Given the description of an element on the screen output the (x, y) to click on. 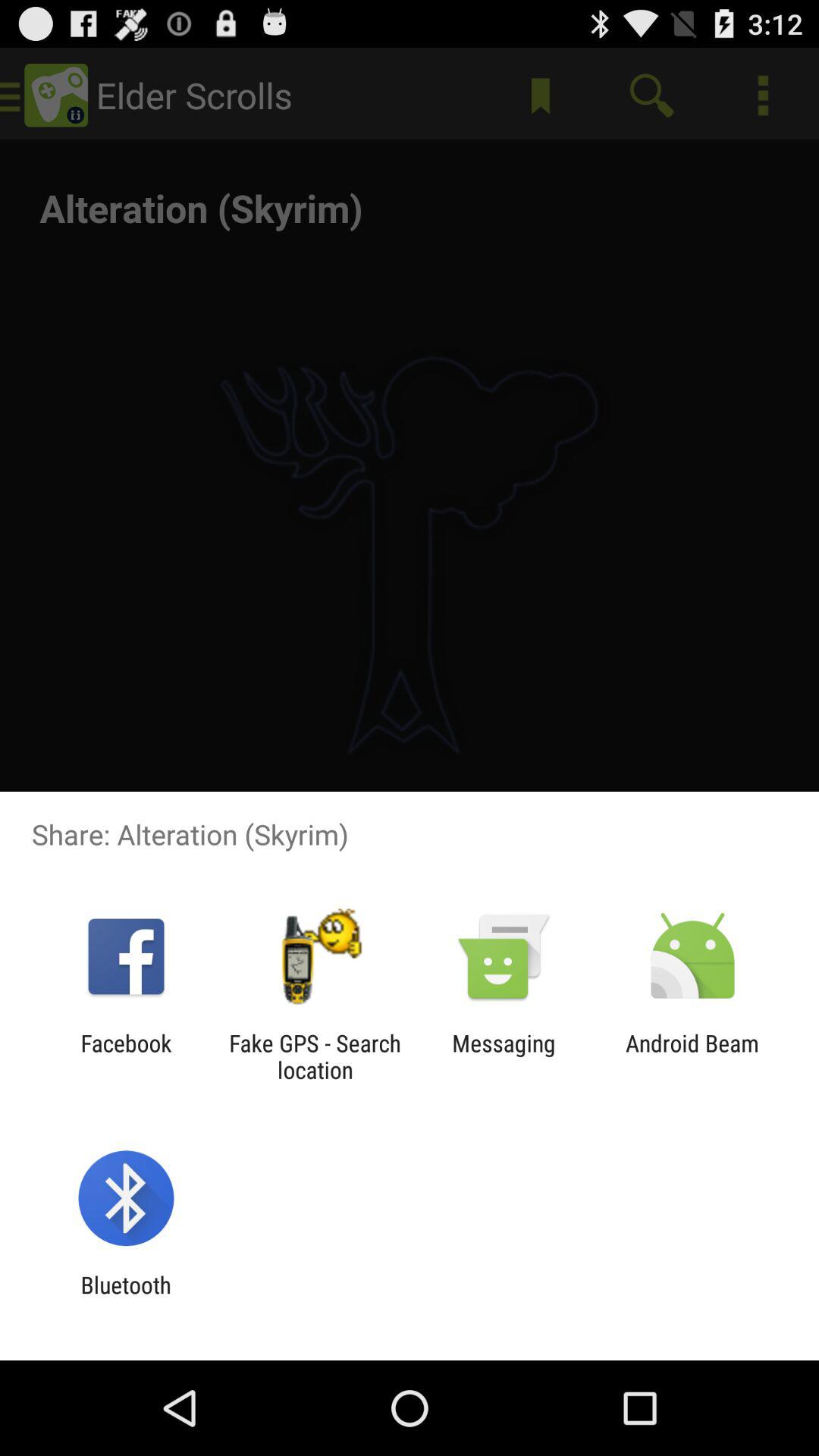
turn off item to the right of fake gps search item (503, 1056)
